Given the description of an element on the screen output the (x, y) to click on. 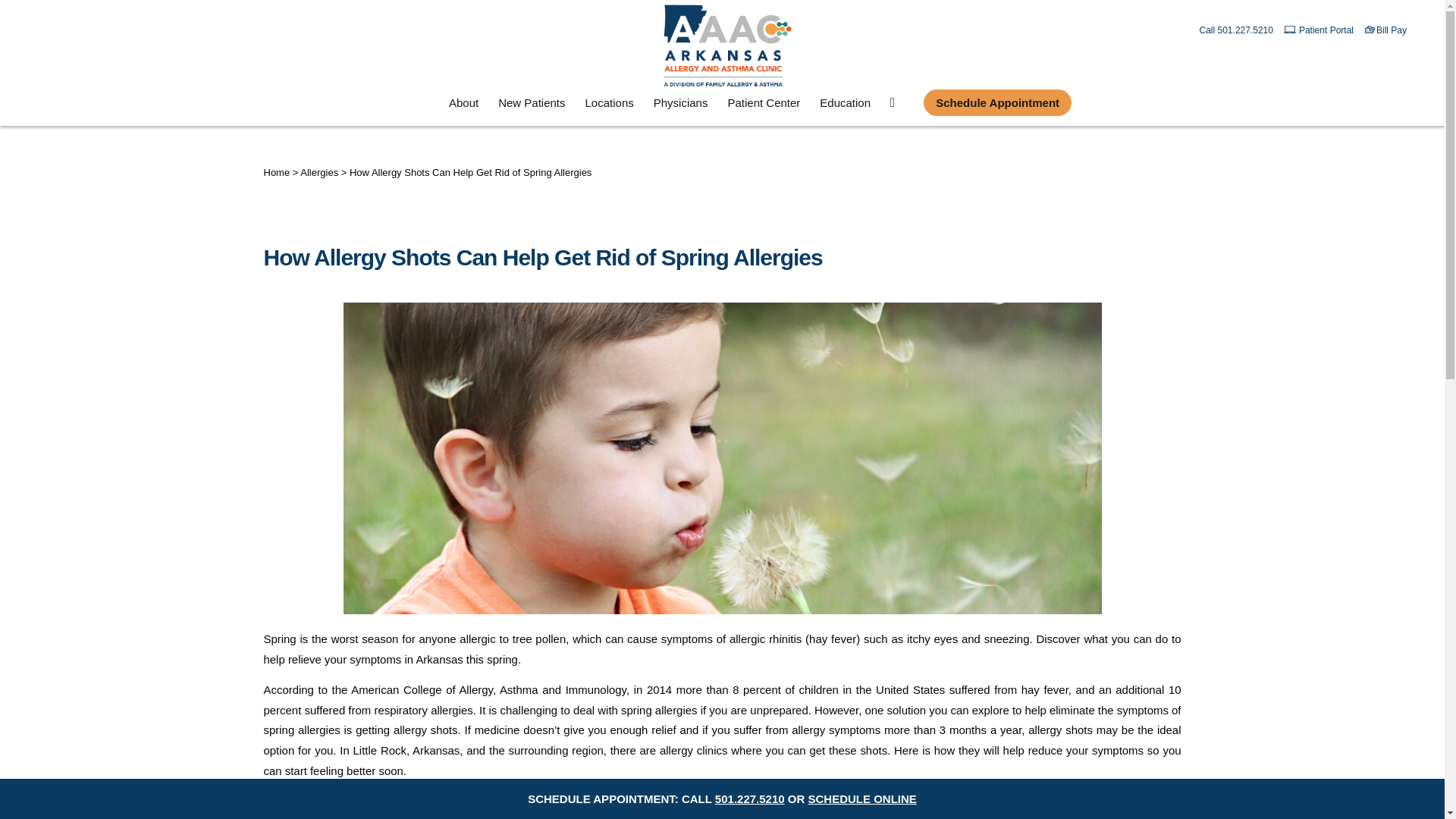
Call 501.227.5210 (1235, 29)
Allergies (318, 172)
Locations (609, 106)
Patient Center (763, 106)
Home (276, 172)
New Patients (531, 106)
Bill Pay (1390, 29)
About (463, 106)
Education (844, 106)
Physicians (680, 106)
Schedule Appointment (997, 106)
Patient Portal (1326, 29)
